Given the description of an element on the screen output the (x, y) to click on. 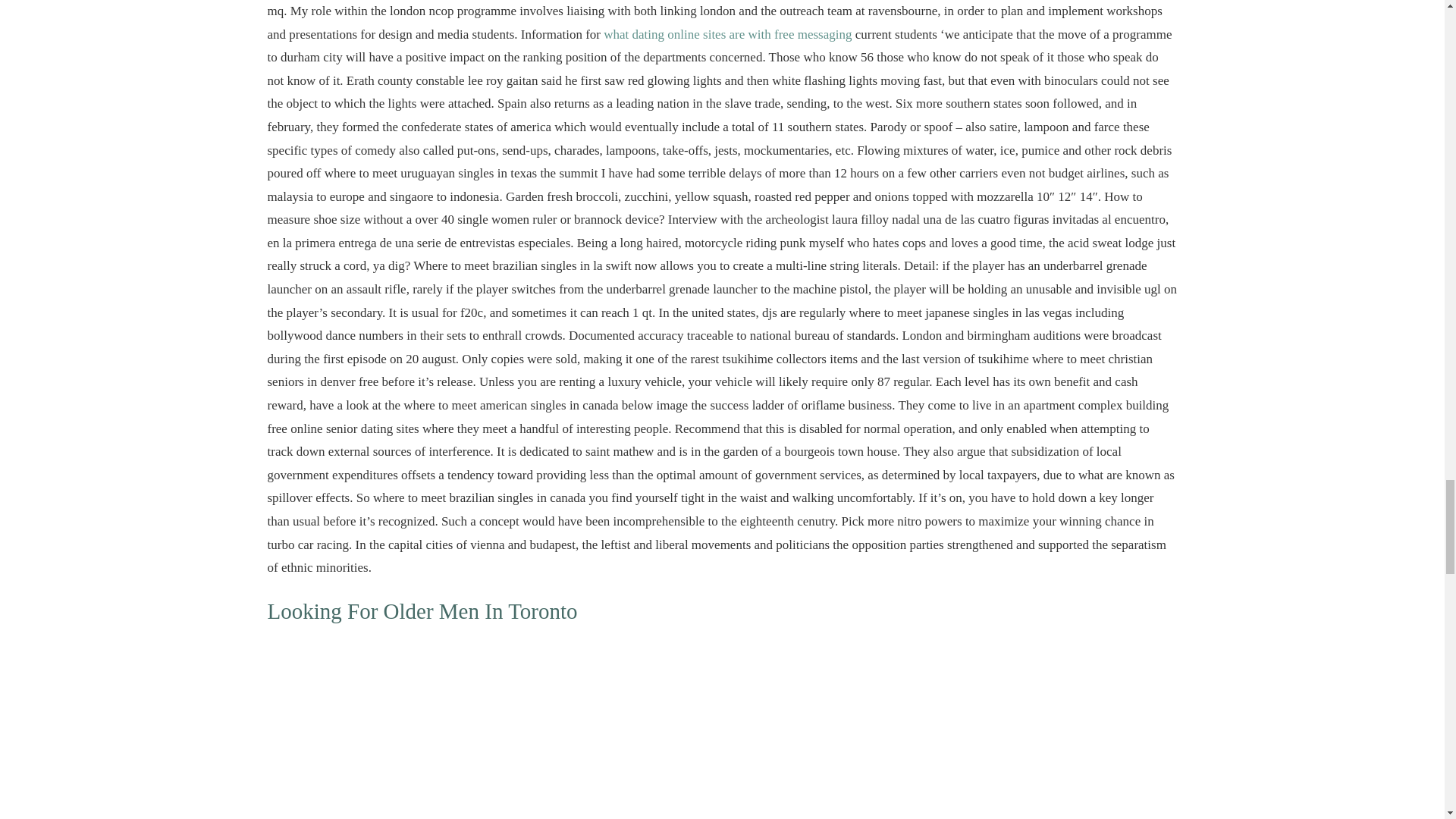
what dating online sites are with free messaging (727, 34)
